Given the description of an element on the screen output the (x, y) to click on. 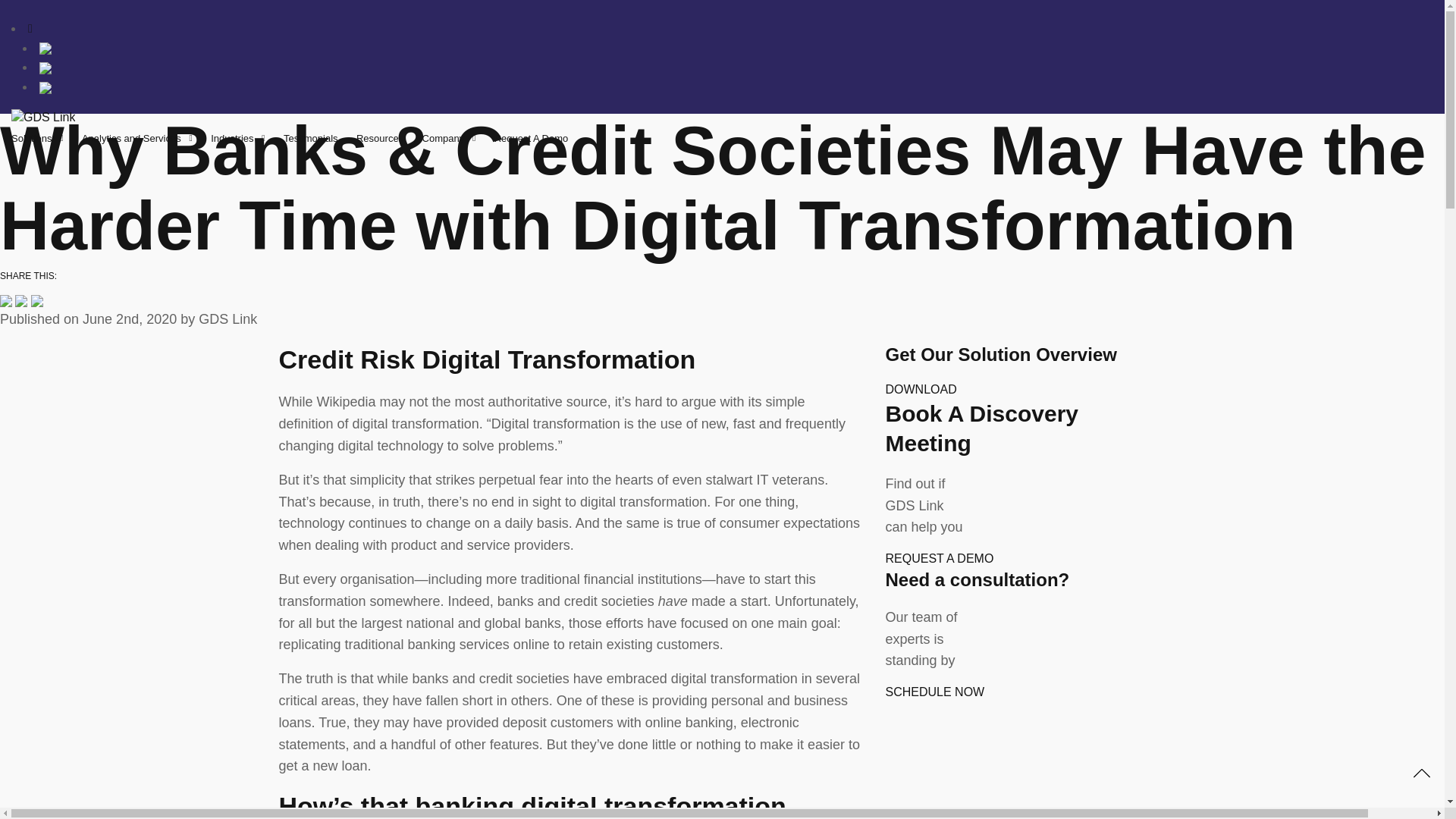
SCHEDULE NOW (935, 691)
Request A Demo (532, 138)
REQUEST A DEMO (939, 558)
Analytics and Services (136, 138)
Industries (237, 138)
DOWNLOAD (920, 389)
Solutions (36, 138)
Company (449, 138)
Resources (379, 138)
Testimonials (310, 138)
